Given the description of an element on the screen output the (x, y) to click on. 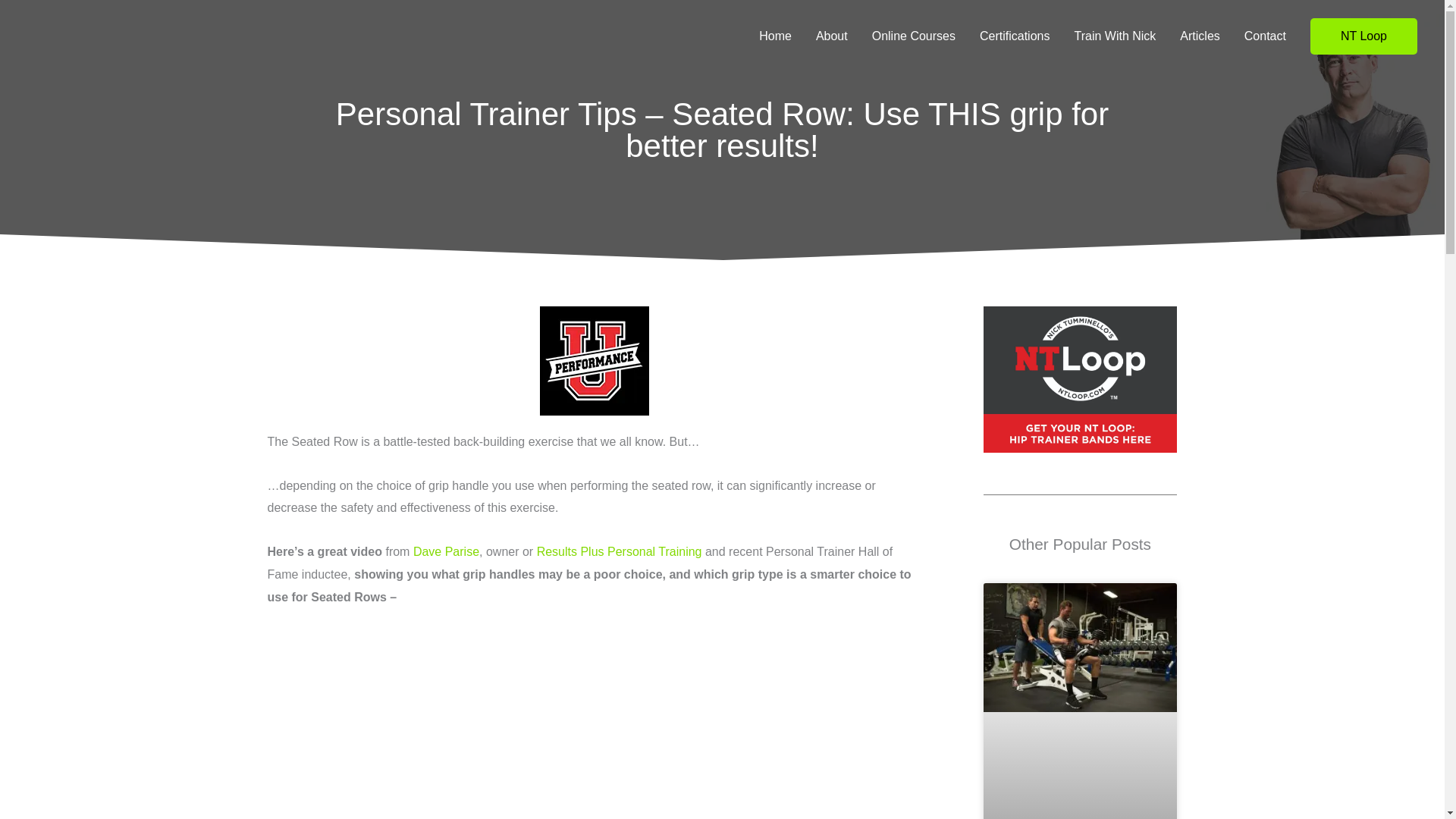
Home (774, 36)
Contact (1264, 36)
NT Loop (1363, 36)
Articles (1199, 36)
About (831, 36)
Results Plus Personal Training (619, 551)
Train With Nick (1114, 36)
Certifications (1014, 36)
Dave Parise (446, 551)
Online Courses (914, 36)
